Given the description of an element on the screen output the (x, y) to click on. 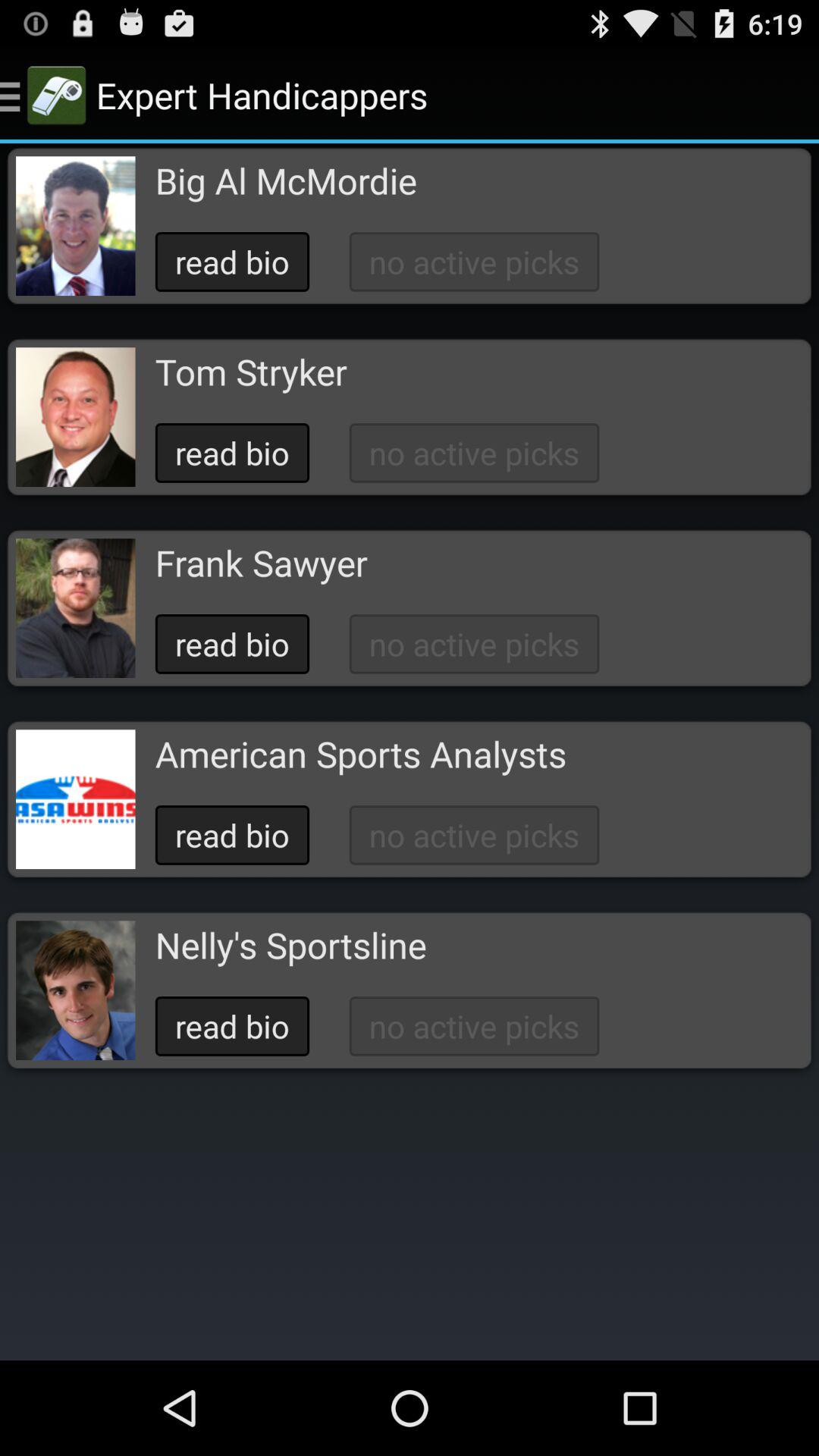
select the american sports analysts app (360, 753)
